Given the description of an element on the screen output the (x, y) to click on. 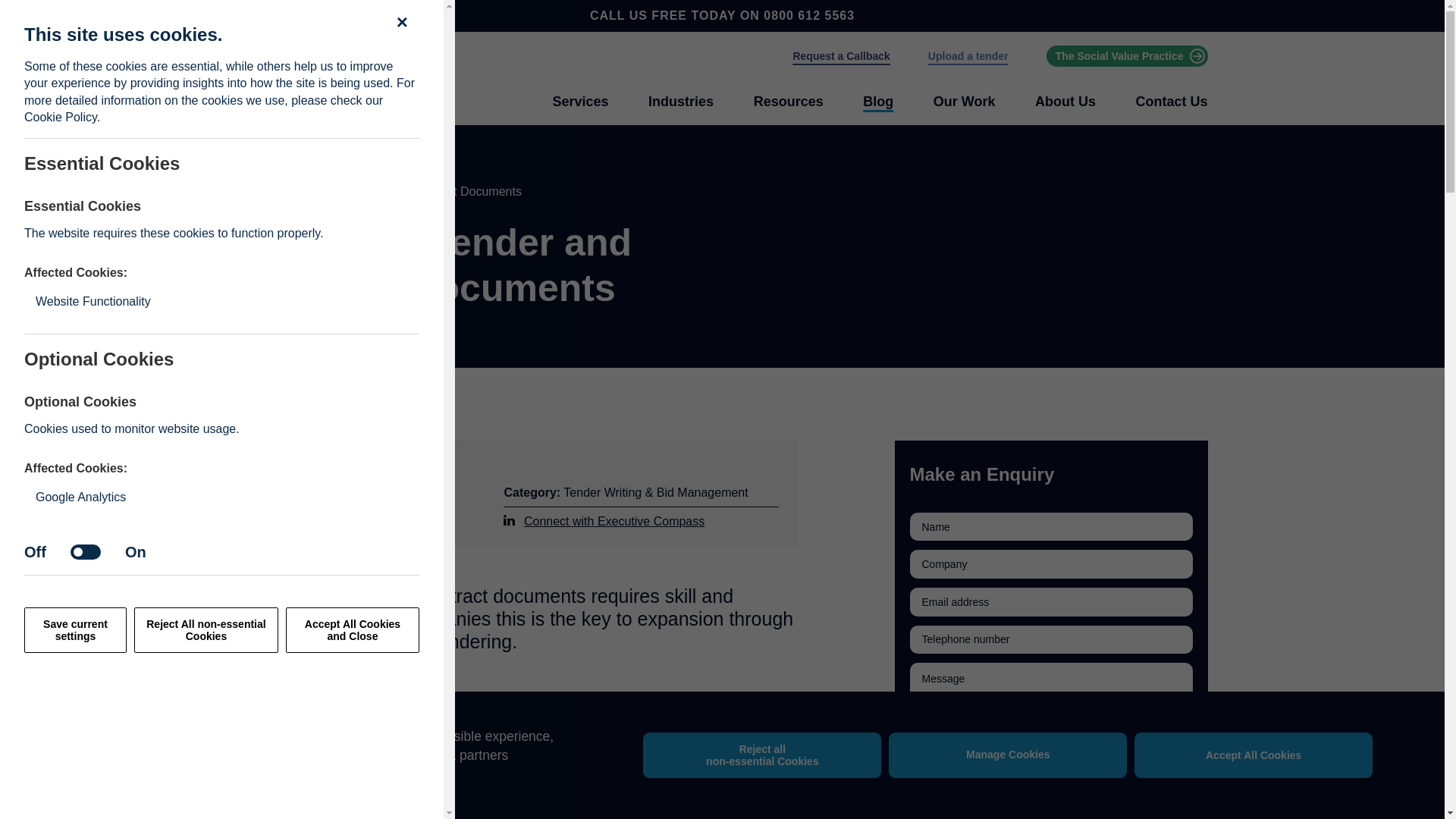
Find out more about The Social Value Practice (1127, 55)
Request a Callback (840, 55)
Return to the Executive Compass homepage (311, 79)
Industries (680, 101)
Services (579, 101)
The Social Value Practice (1127, 55)
Upload a tender (968, 55)
0800 612 5563 (808, 15)
Upload a tender for review today (968, 55)
Call us now on 0800 612 5563 (808, 15)
